Given the description of an element on the screen output the (x, y) to click on. 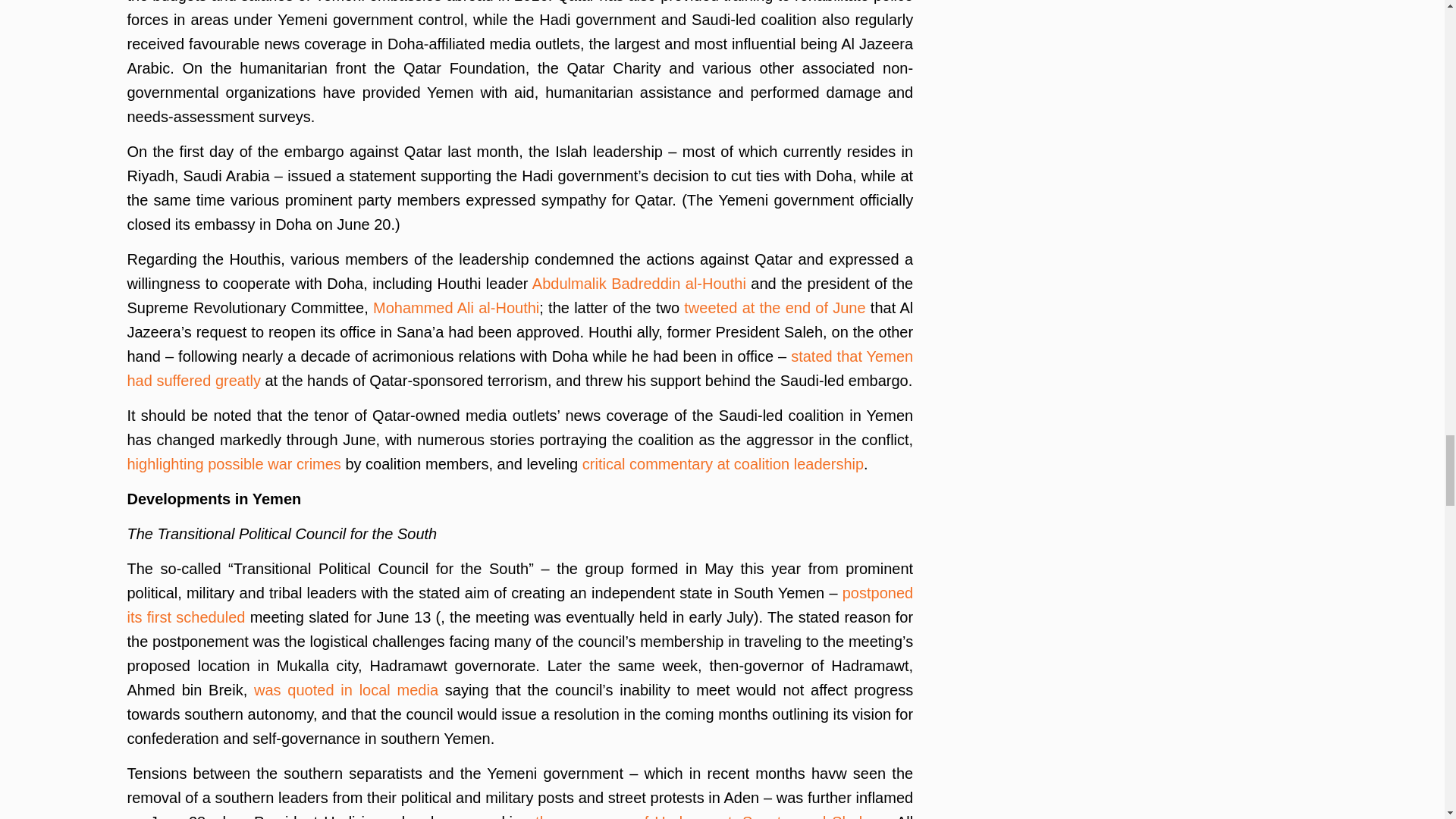
tweeted at the end of June (774, 307)
Abdulmalik Badreddin al-Houthi (638, 283)
Mohammed Ali al-Houthi (455, 307)
